Given the description of an element on the screen output the (x, y) to click on. 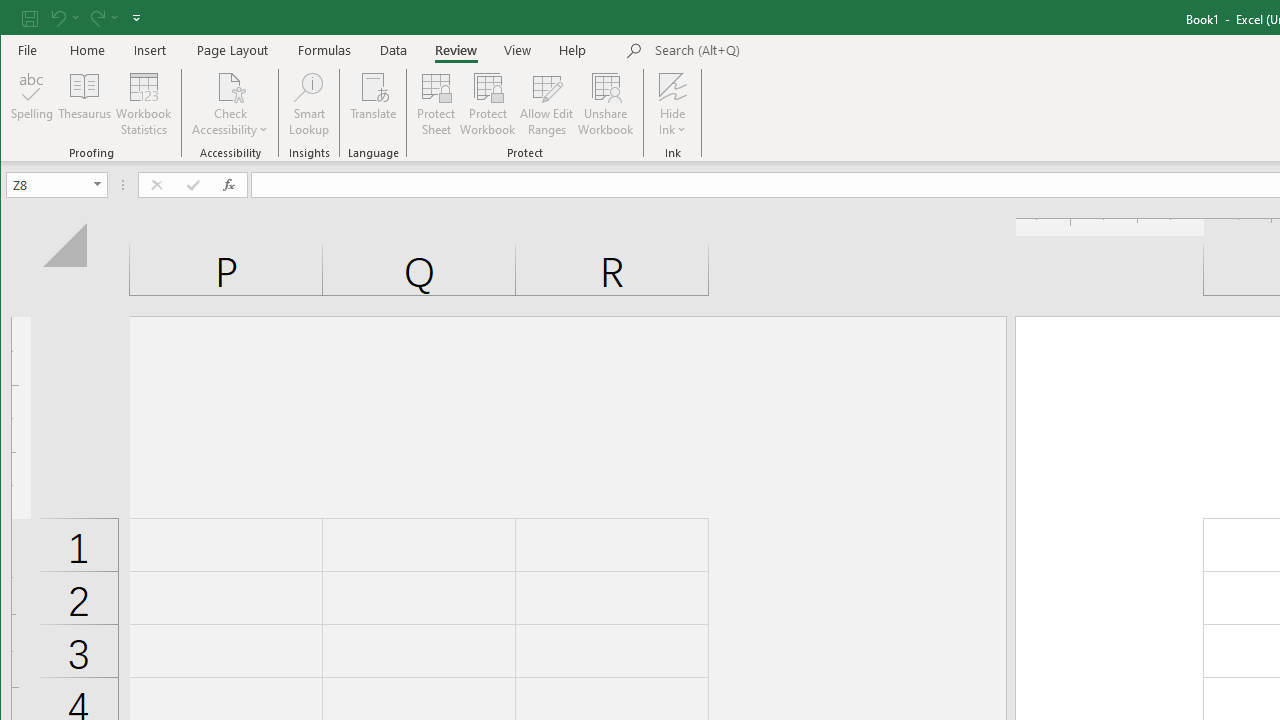
Workbook Statistics (143, 104)
Thesaurus... (84, 104)
Translate (373, 104)
